Given the description of an element on the screen output the (x, y) to click on. 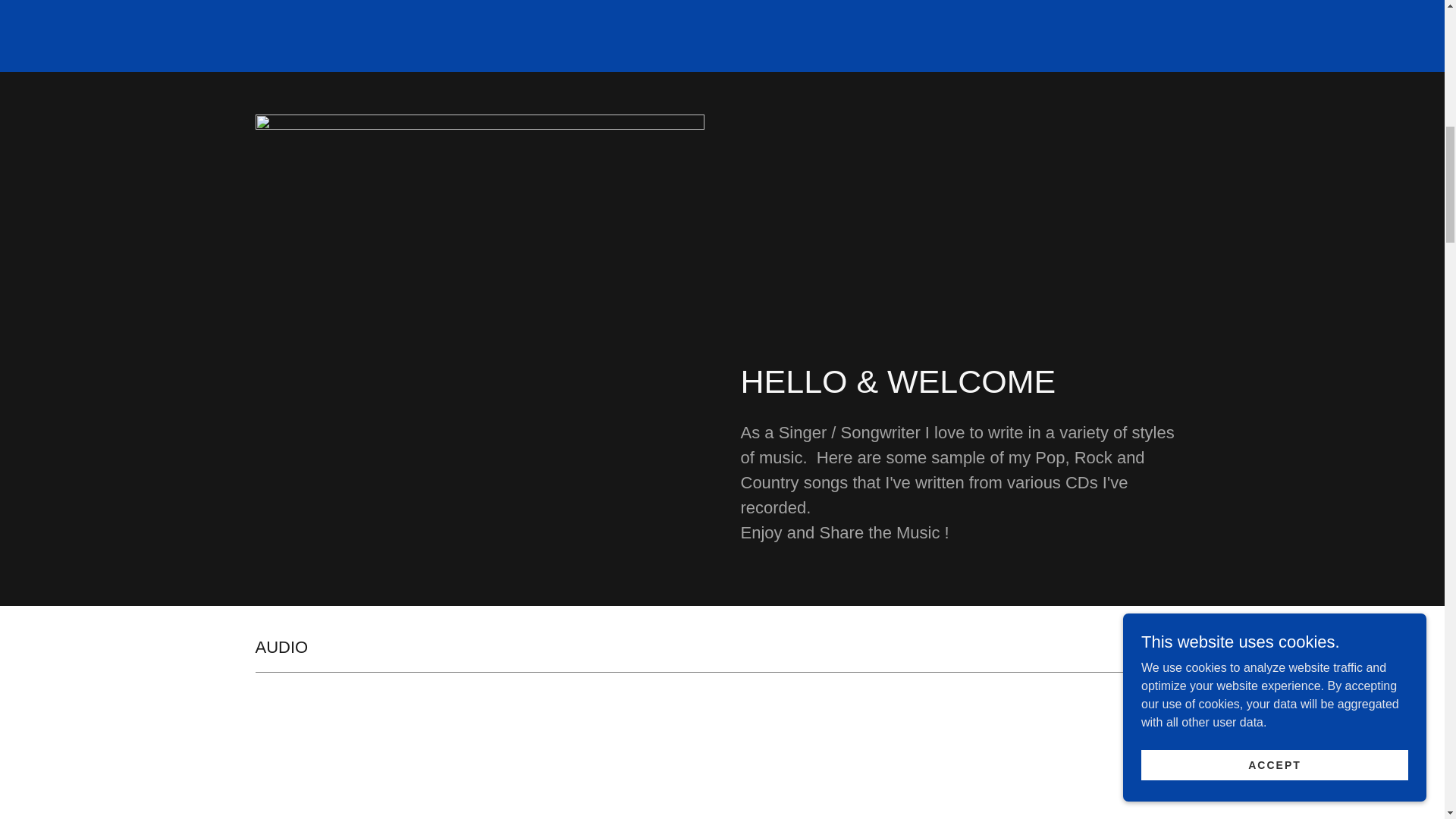
Clickable audio widget (964, 760)
